Given the description of an element on the screen output the (x, y) to click on. 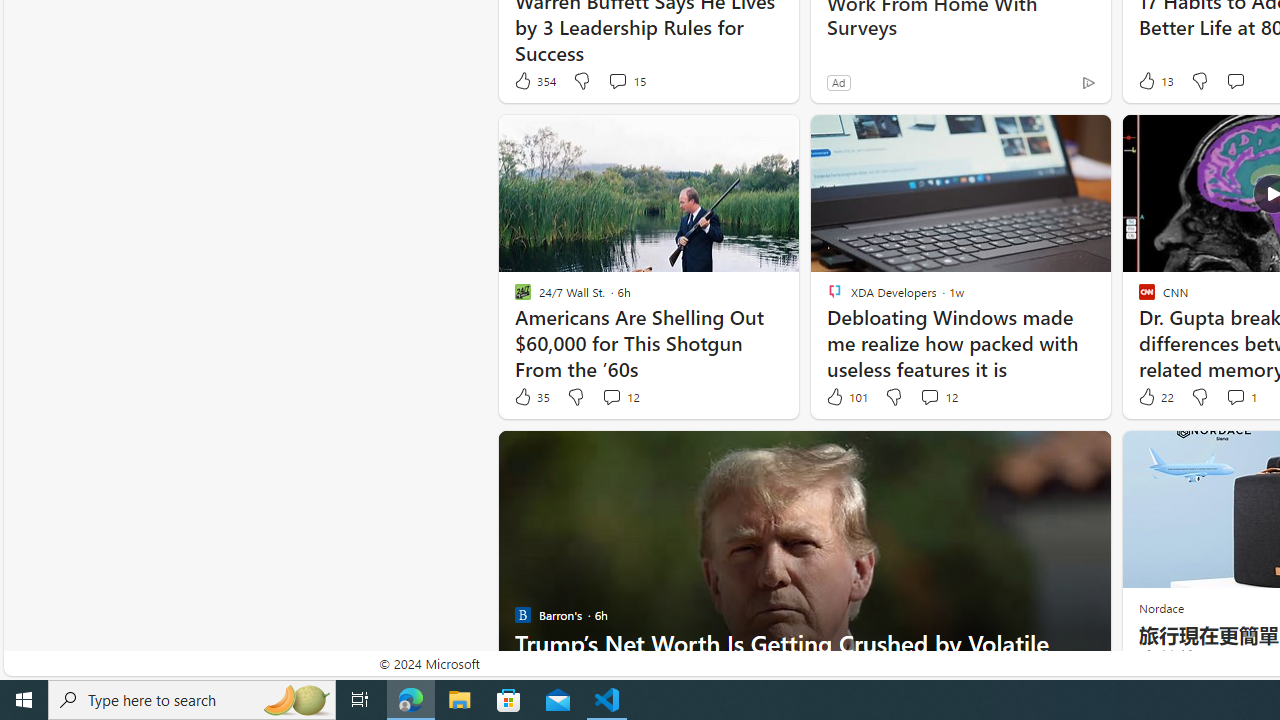
101 Like (845, 397)
13 Like (1154, 80)
Hide this story (1050, 454)
354 Like (534, 80)
22 Like (1154, 397)
View comments 15 Comment (626, 80)
View comments 15 Comment (617, 80)
